Given the description of an element on the screen output the (x, y) to click on. 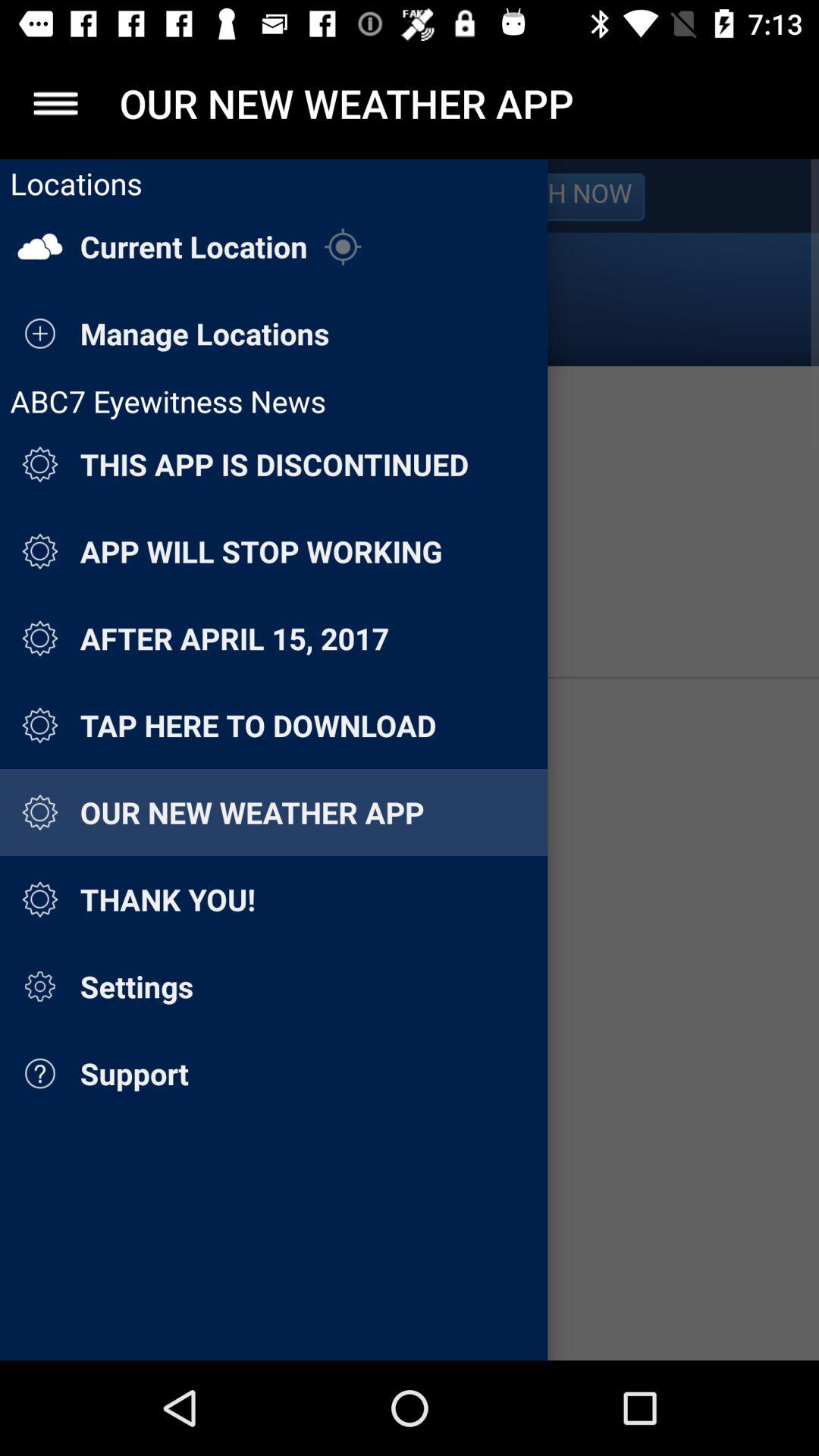
toggle menu (55, 103)
